Given the description of an element on the screen output the (x, y) to click on. 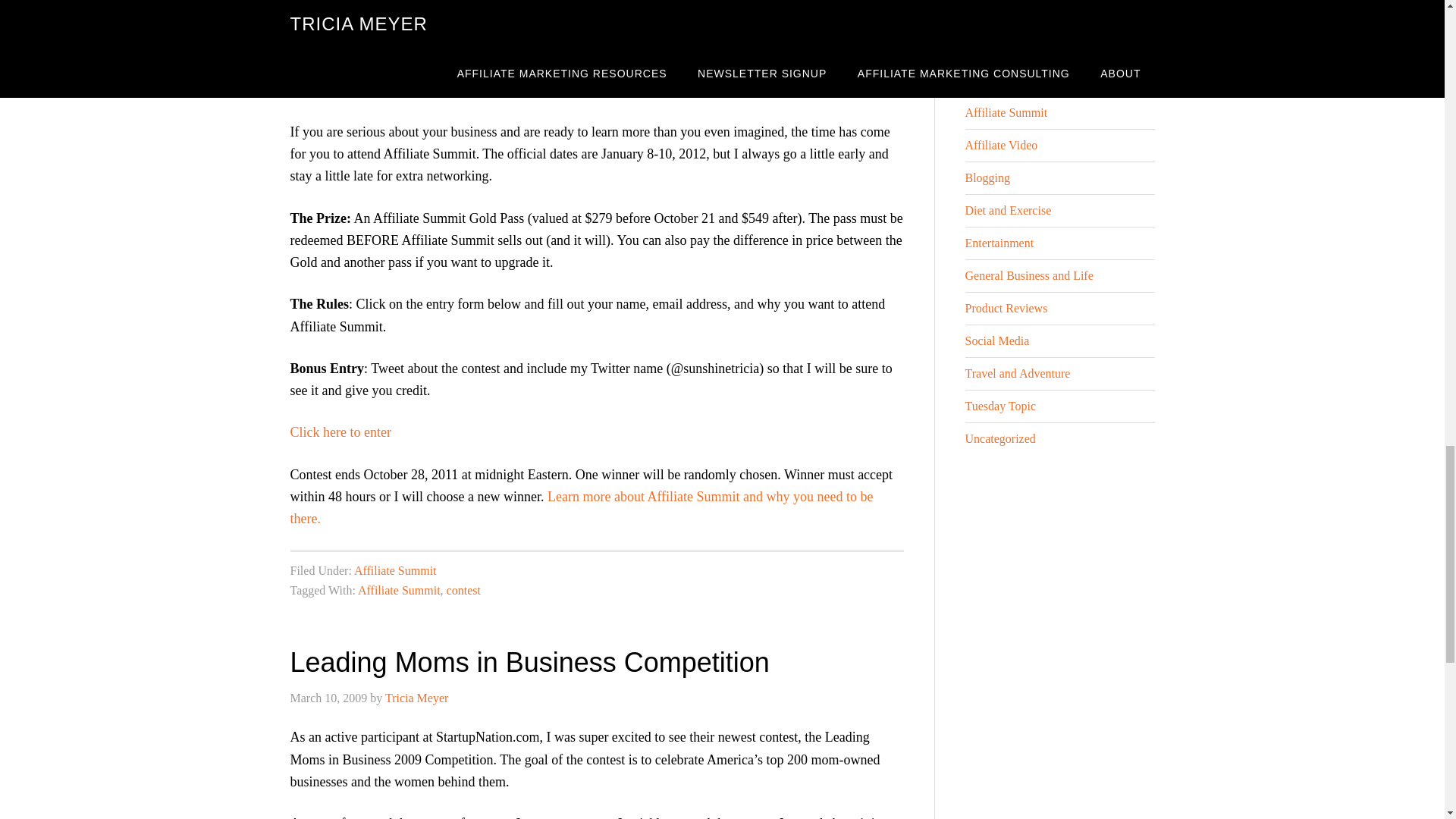
Leading Moms in Business Competition (528, 662)
Affiliate Summit posts (526, 67)
Affiliate Summit (399, 590)
Affiliate Summit (394, 570)
Click here to enter (339, 432)
Tricia Meyer (416, 697)
contest (463, 590)
